Given the description of an element on the screen output the (x, y) to click on. 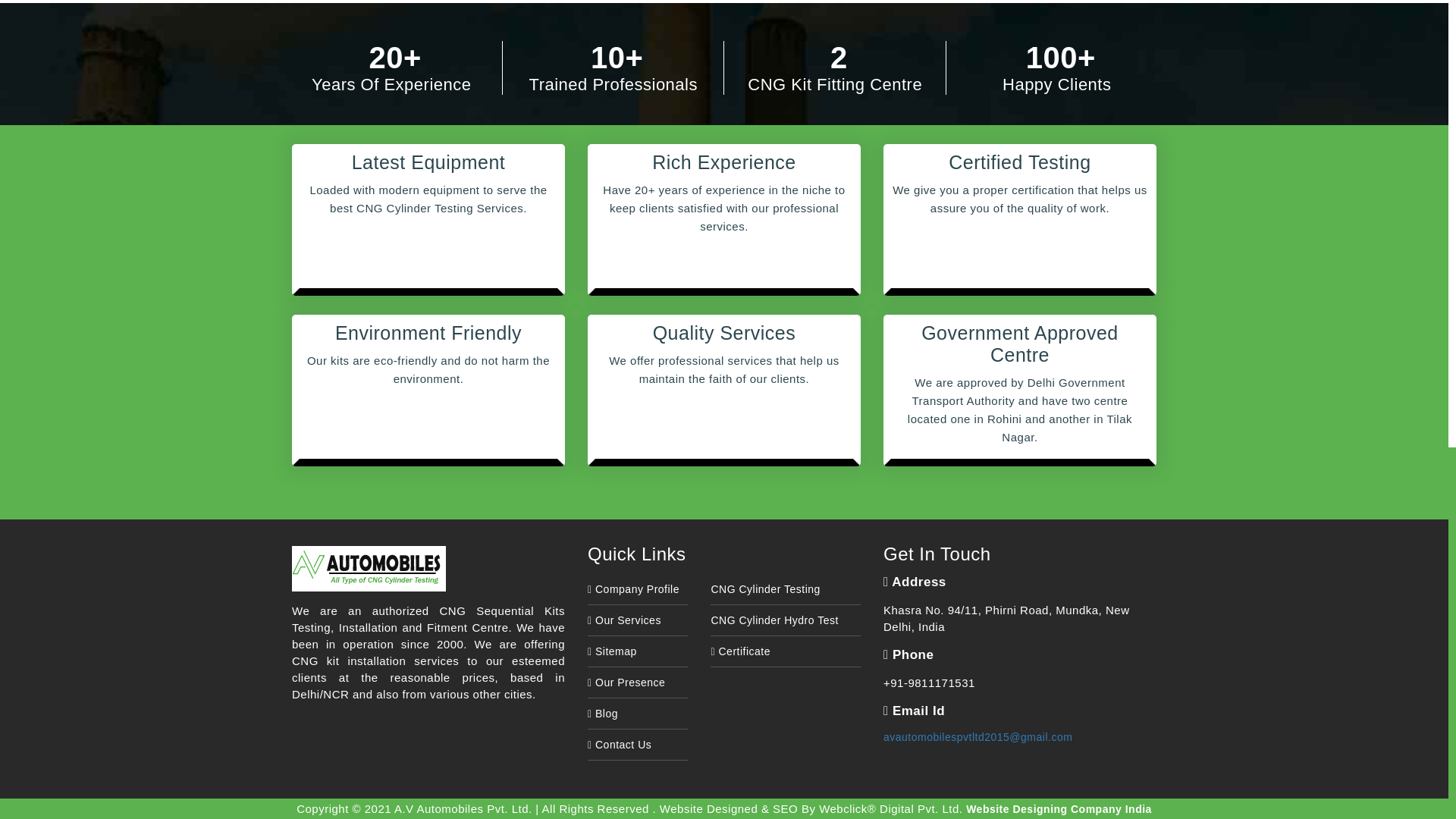
Blog (602, 715)
Website Designing Company India (1058, 809)
Our Services (624, 623)
A.V Automobiles Pvt. Ltd. (428, 568)
Contact Us (619, 746)
Company Profile (633, 589)
Our Services (624, 620)
Blog (602, 713)
CNG Cylinder Hydro Test (774, 621)
Company Profile (633, 592)
